Given the description of an element on the screen output the (x, y) to click on. 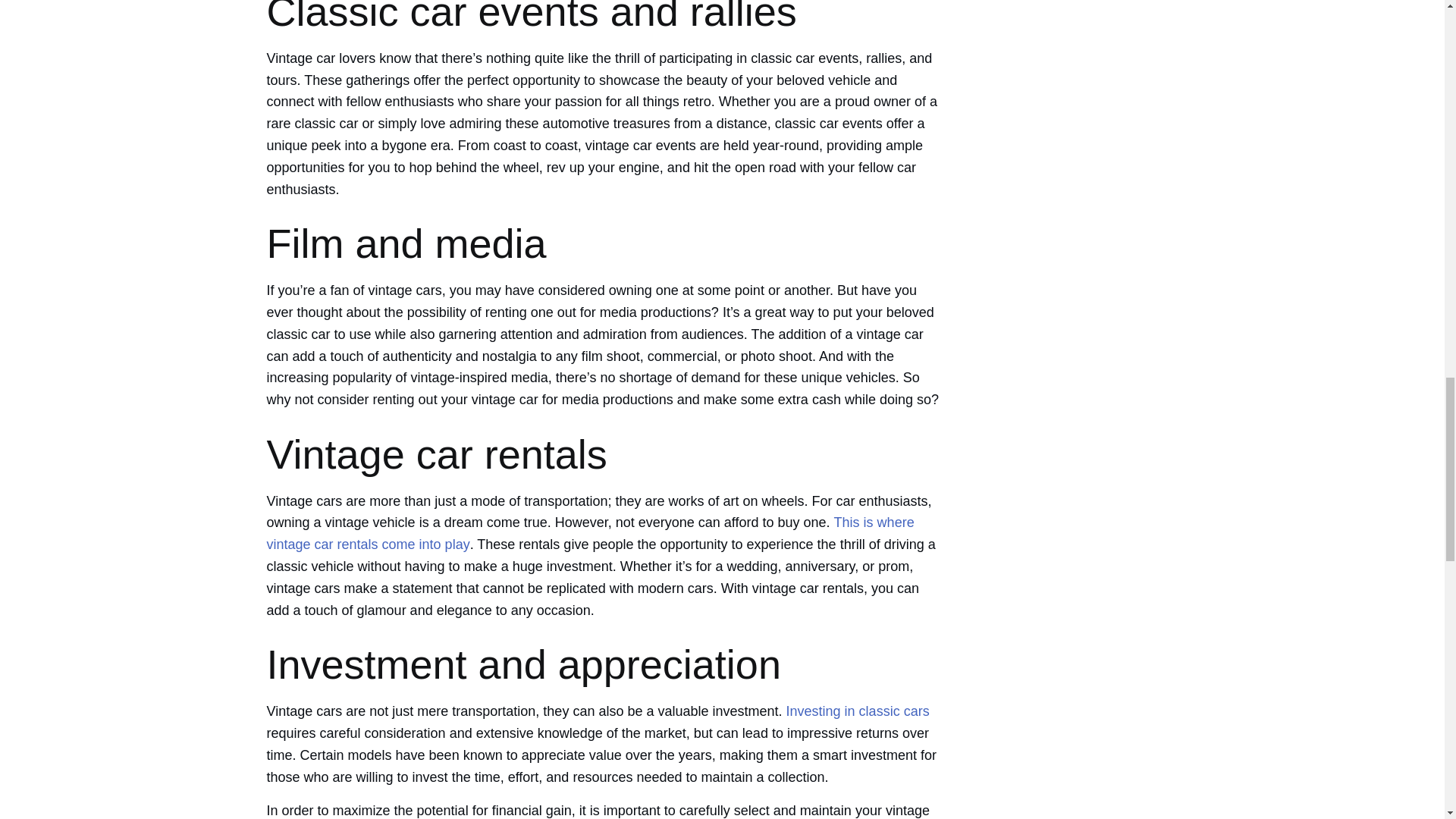
This is where vintage car rentals come into play (590, 533)
Investing in classic cars (858, 711)
